Given the description of an element on the screen output the (x, y) to click on. 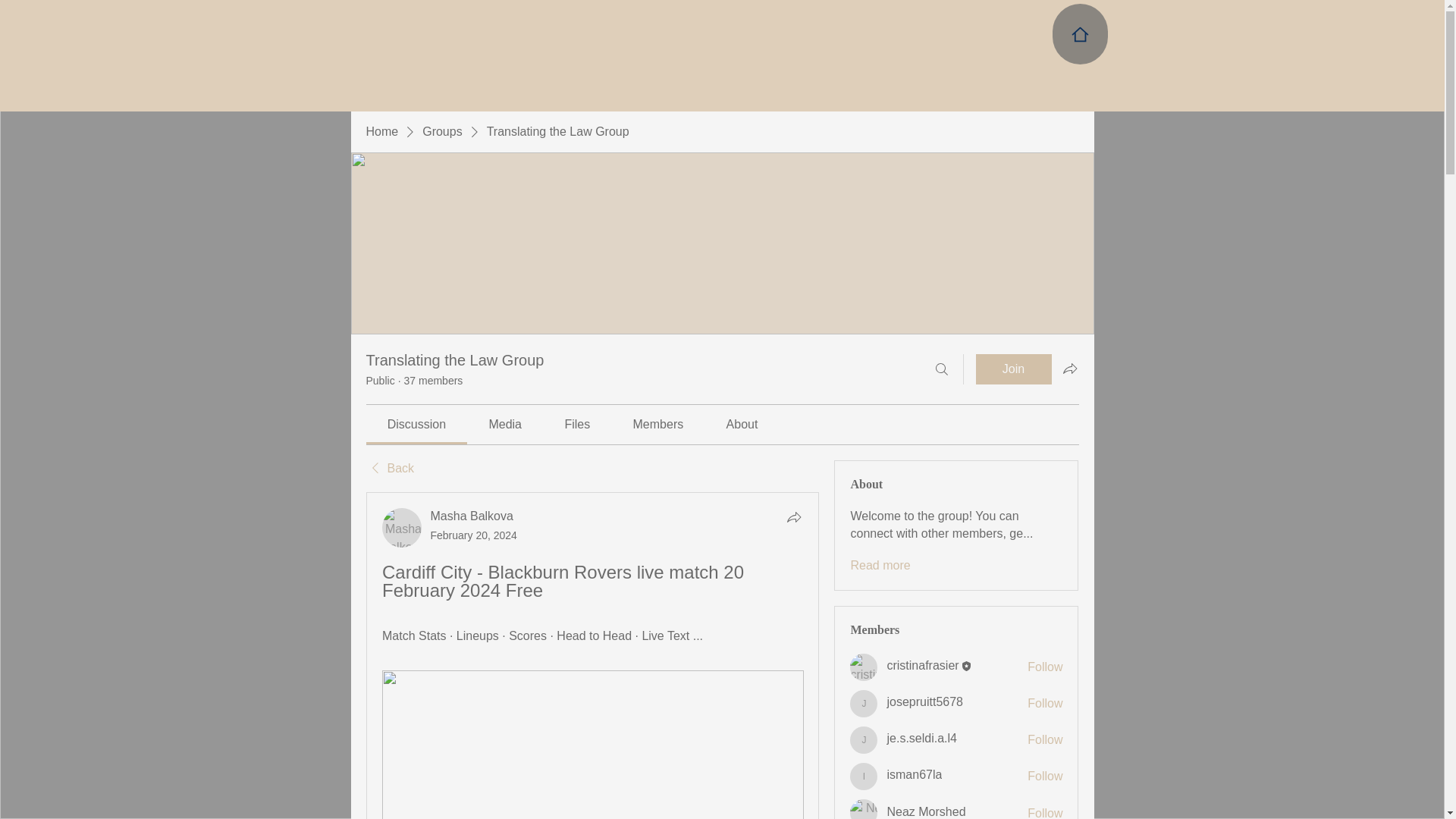
Back (389, 468)
Neaz Morshed (863, 809)
josepruitt5678 (924, 701)
Join (1013, 368)
cristinafrasier (922, 665)
cristinafrasier (863, 666)
isman67la (863, 776)
isman67la (914, 774)
Follow (1044, 740)
Groups (441, 131)
